Given the description of an element on the screen output the (x, y) to click on. 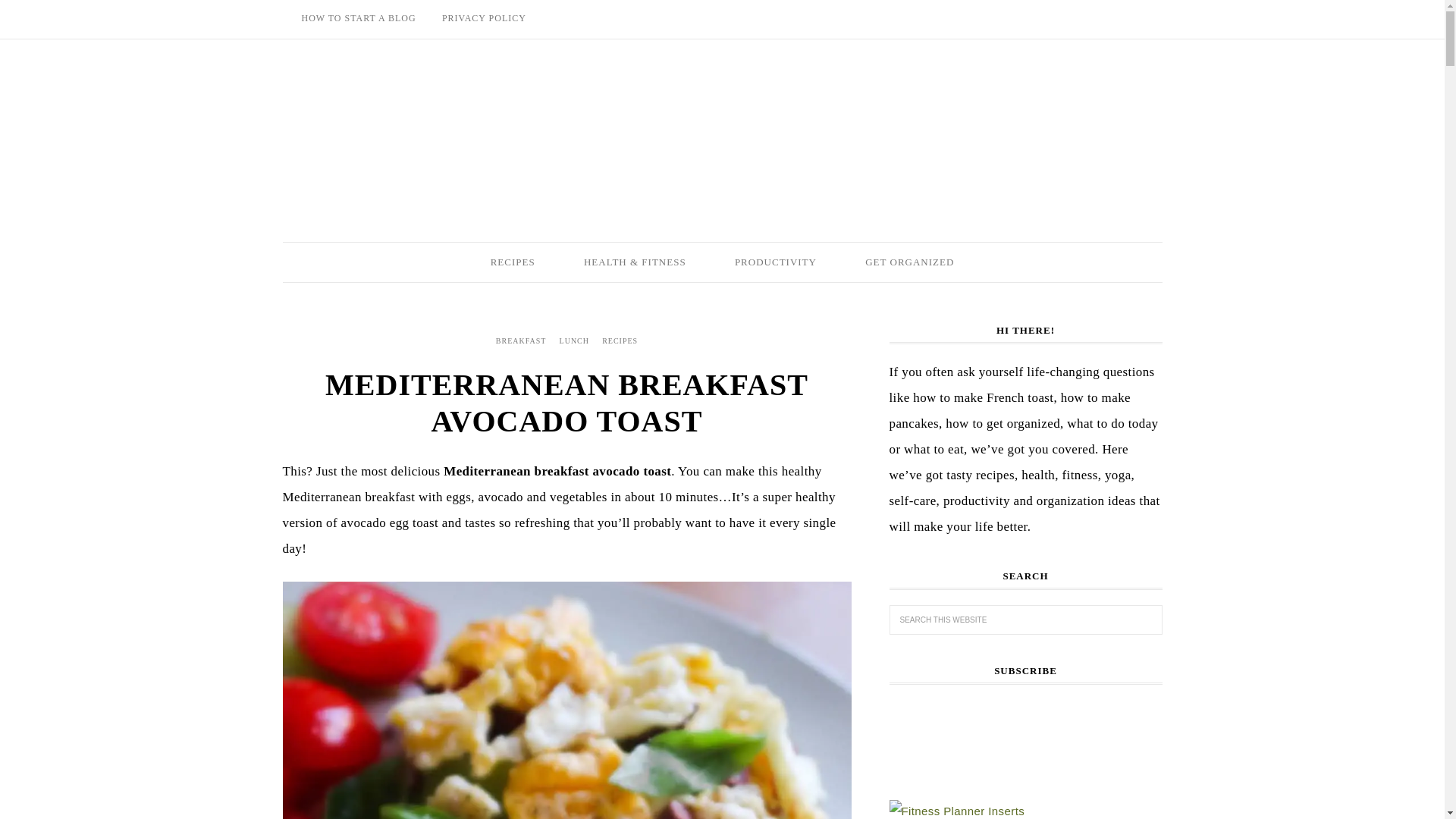
BREAKFAST (520, 339)
LUNCH (574, 339)
GET ORGANIZED (909, 261)
RECIPES (619, 339)
HER HIGHNESS, HUNGRY ME (721, 132)
PRIVACY POLICY (483, 18)
RECIPES (512, 261)
